Given the description of an element on the screen output the (x, y) to click on. 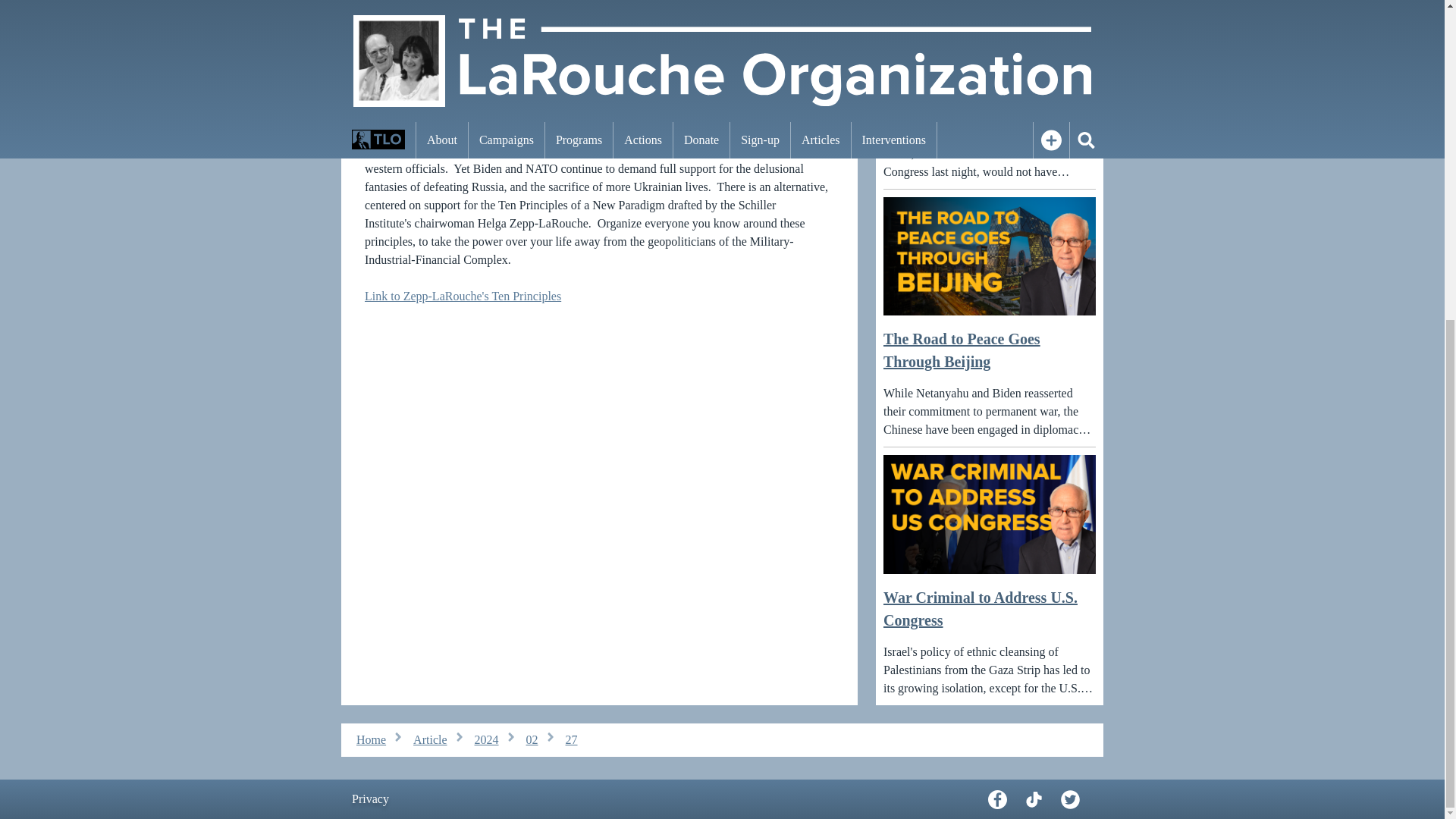
Countdown to World War III (599, 64)
